Given the description of an element on the screen output the (x, y) to click on. 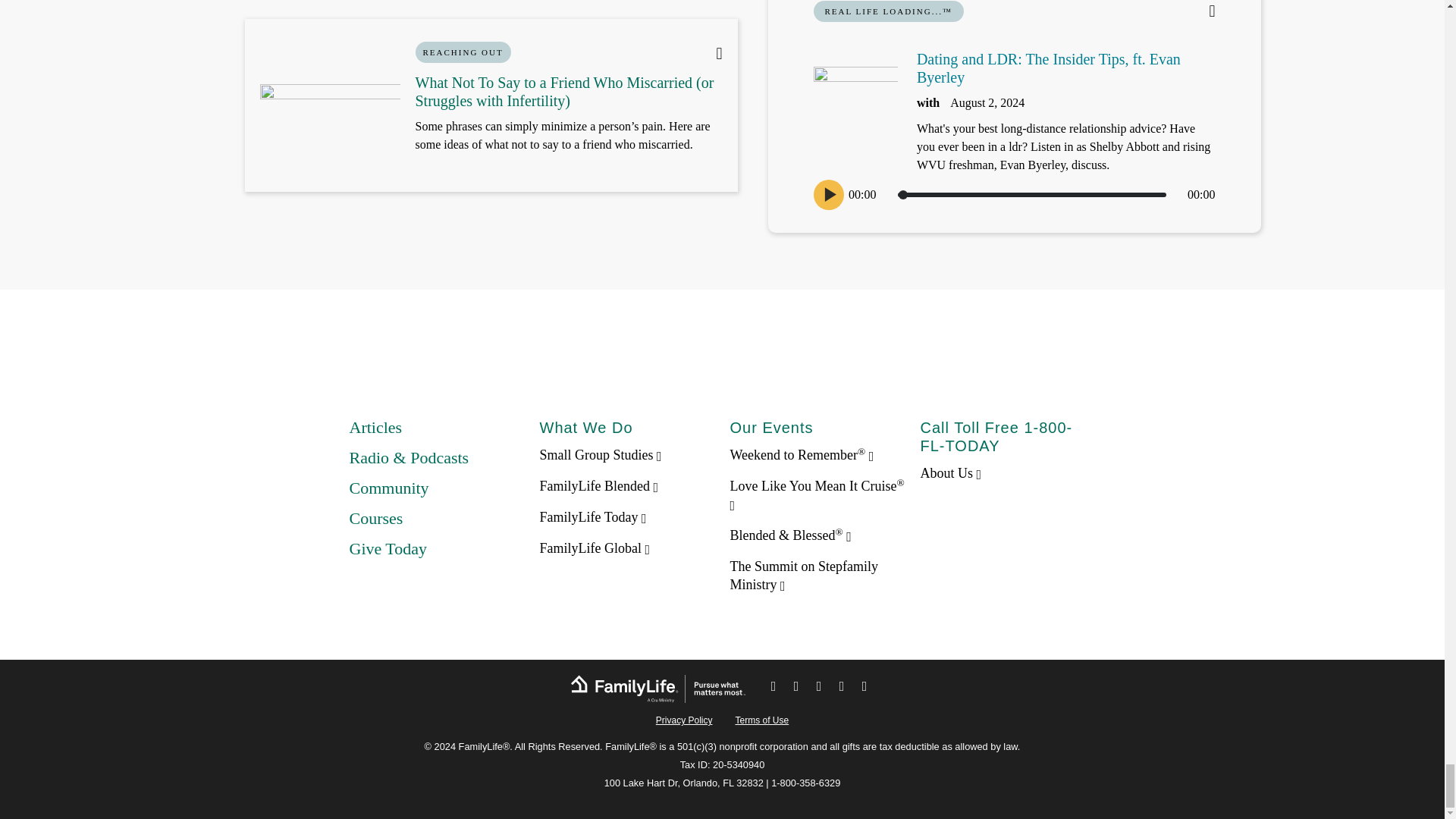
Articles (375, 426)
Facebook (773, 688)
FamilyLife Today (593, 516)
Courses (376, 517)
The Summit on Stepfamily Ministry (803, 575)
FamilyLife Blended (599, 485)
Pinterest (818, 688)
Dating and LDR: The Insider Tips, ft. Evan Byerley (1048, 67)
FamilyLife Global (595, 548)
Community (388, 487)
Small Group Studies (601, 454)
Give Today (387, 547)
Youtube (865, 688)
0 (1032, 194)
REACHING OUT (462, 52)
